Given the description of an element on the screen output the (x, y) to click on. 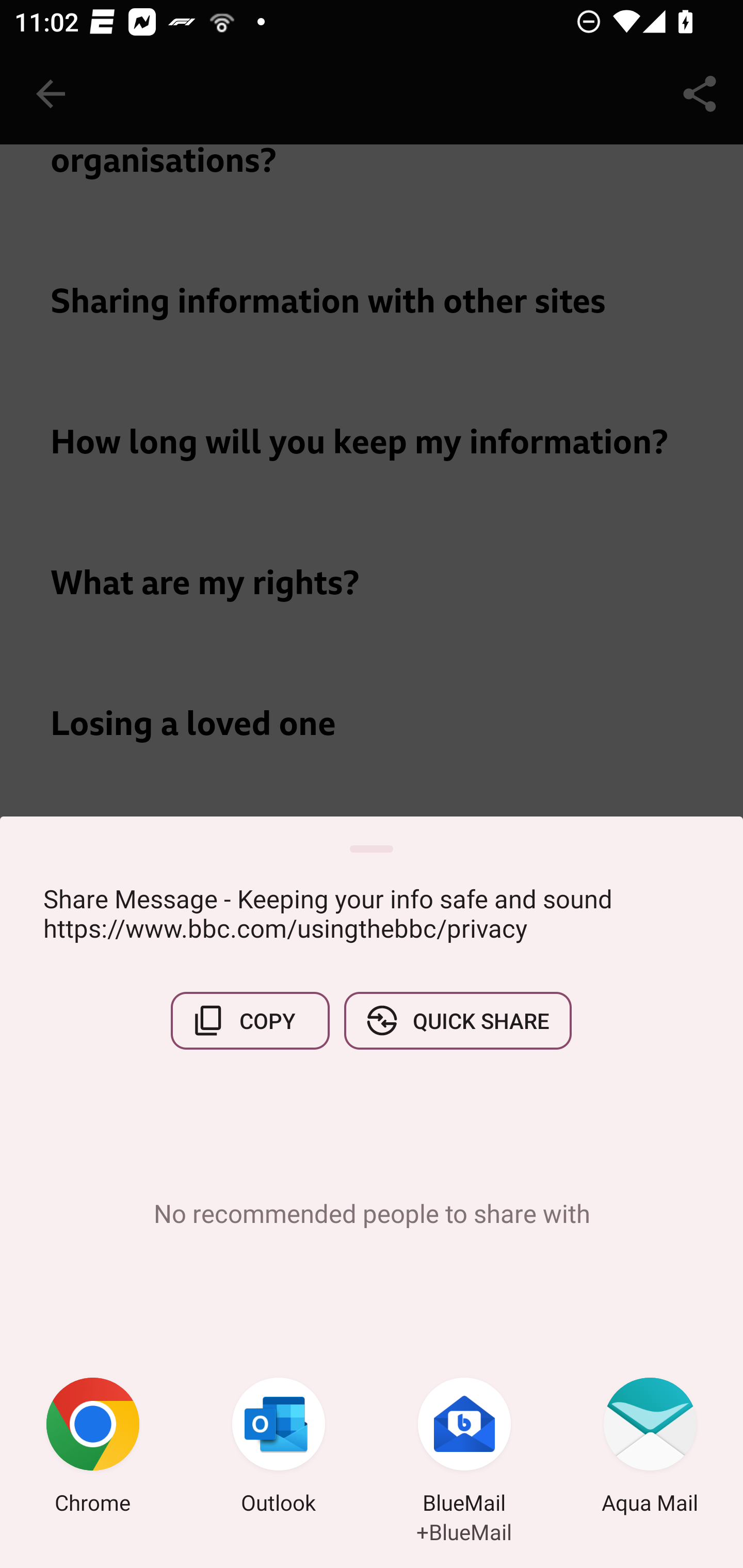
COPY (249, 1020)
QUICK SHARE (457, 1020)
Chrome (92, 1448)
Outlook (278, 1448)
BlueMail +BlueMail (464, 1448)
Aqua Mail (650, 1448)
